Given the description of an element on the screen output the (x, y) to click on. 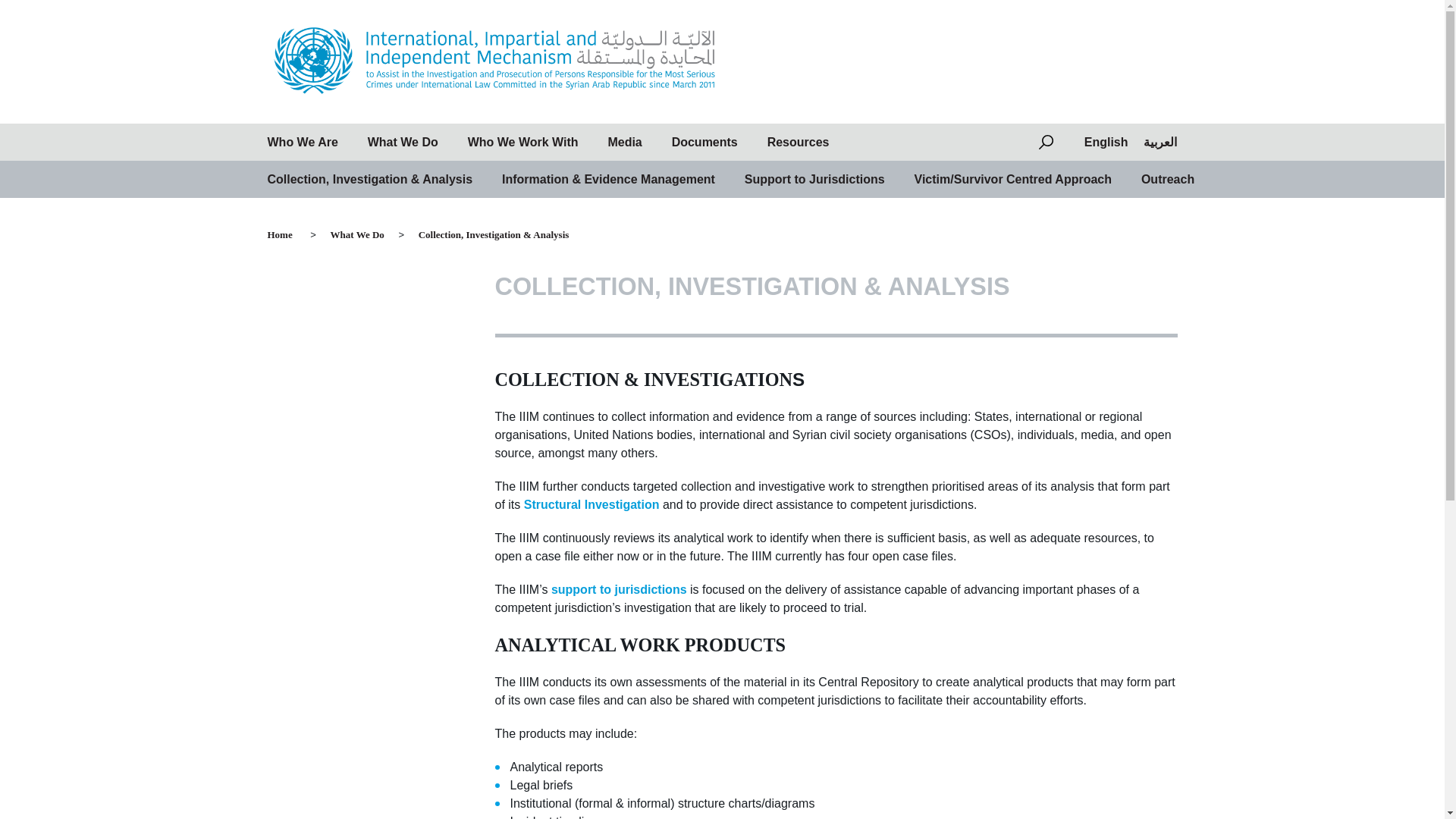
English (1106, 142)
Outreach (1167, 179)
Who We Are (301, 142)
Home (286, 235)
What We Do (357, 234)
Home (286, 235)
What We Do (357, 234)
Support to Jurisdictions (814, 179)
What We Do (403, 142)
Resources (798, 142)
Media (624, 142)
Who We Work With (522, 142)
IIIM (290, 120)
Documents (704, 142)
